Given the description of an element on the screen output the (x, y) to click on. 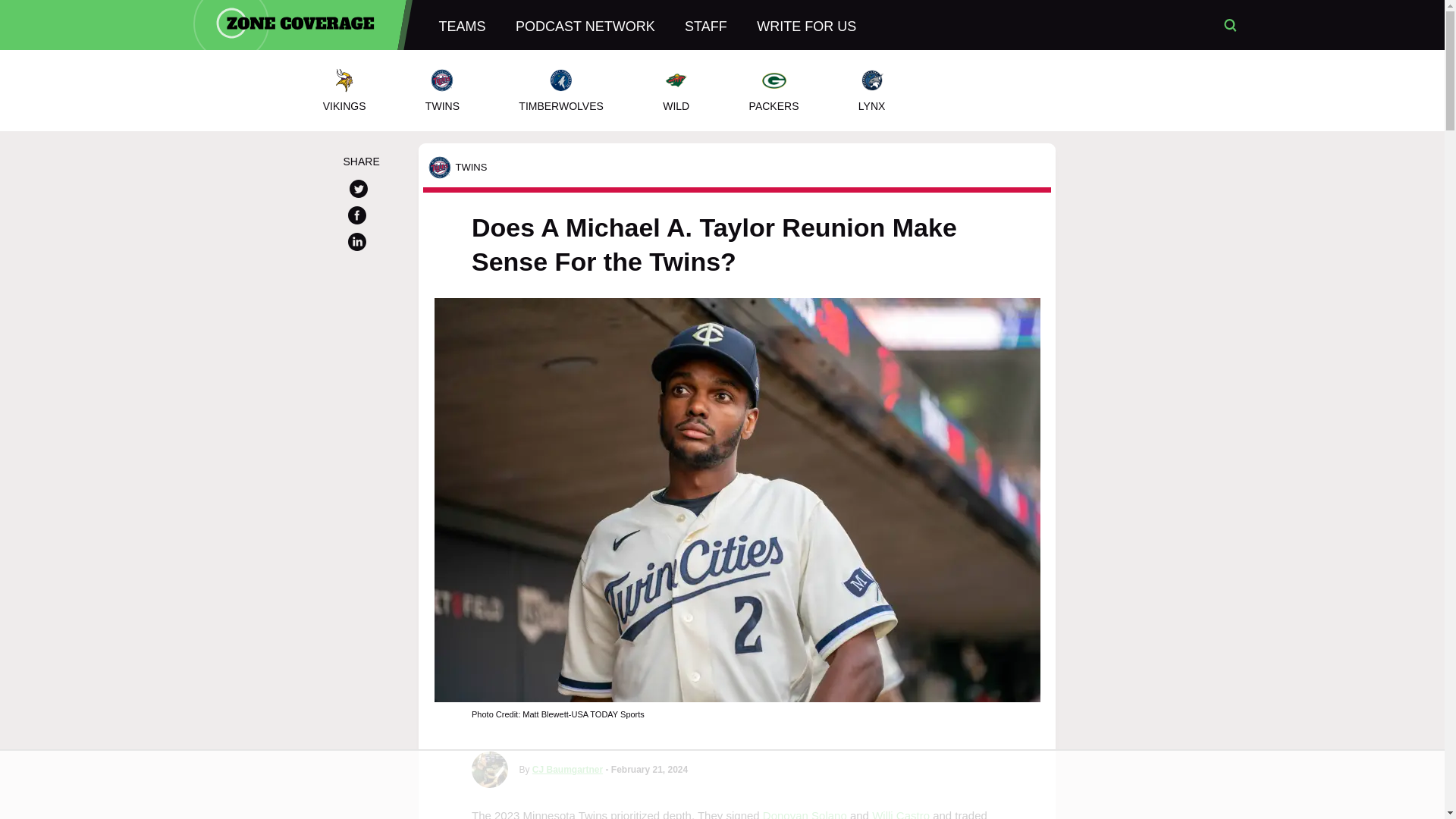
LYNX (871, 90)
CJ Baumgartner (567, 769)
PODCAST NETWORK (585, 24)
WRITE FOR US (806, 24)
TEAMS (462, 24)
Willi Castro (901, 814)
WILD (676, 90)
TIMBERWOLVES (561, 90)
TWINS (442, 90)
Share on Facebook (356, 218)
Follow us on LinkedIn (356, 244)
VIKINGS (343, 90)
